Given the description of an element on the screen output the (x, y) to click on. 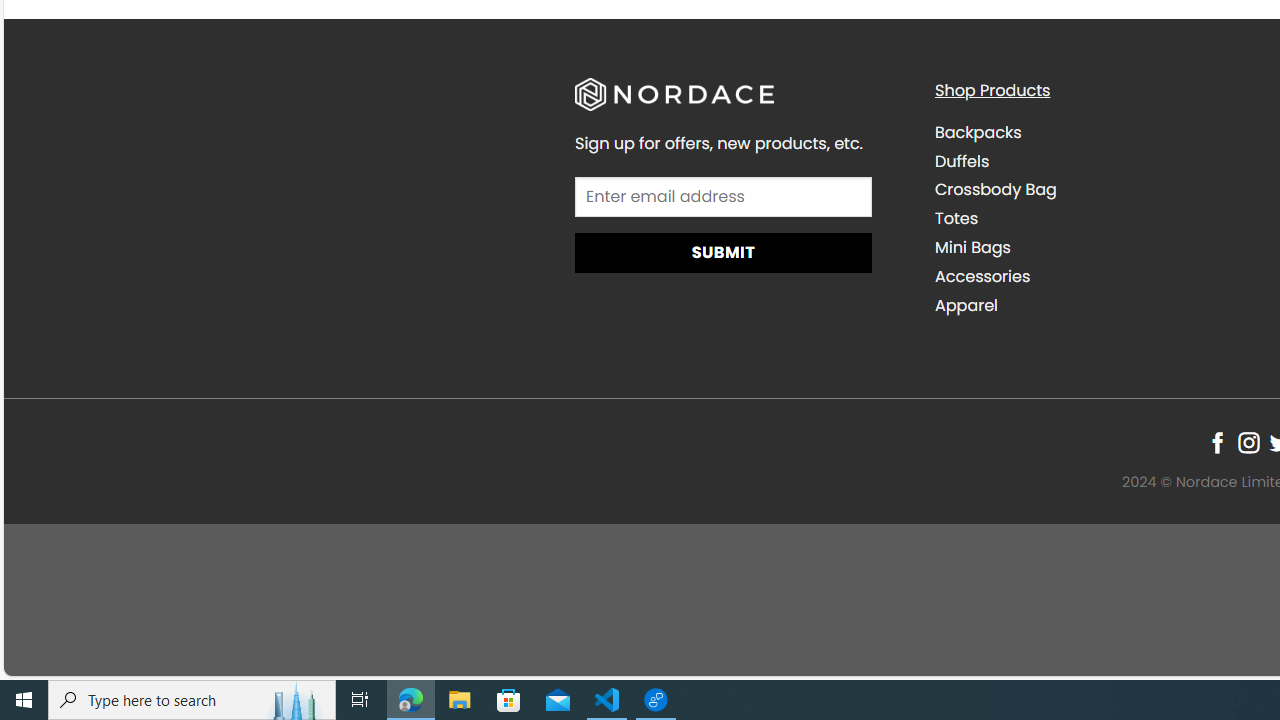
Submit (722, 253)
Mini Bags (972, 247)
Apparel (1099, 305)
Duffels (961, 160)
Crossbody Bag (1099, 190)
Backpacks (1099, 132)
Accessories (982, 276)
Accessories (1099, 276)
Totes (1099, 218)
Backpacks (977, 132)
Apparel (966, 304)
Follow on Instagram (1248, 442)
Totes (955, 219)
Follow on Facebook (1217, 442)
Mini Bags (1099, 247)
